Given the description of an element on the screen output the (x, y) to click on. 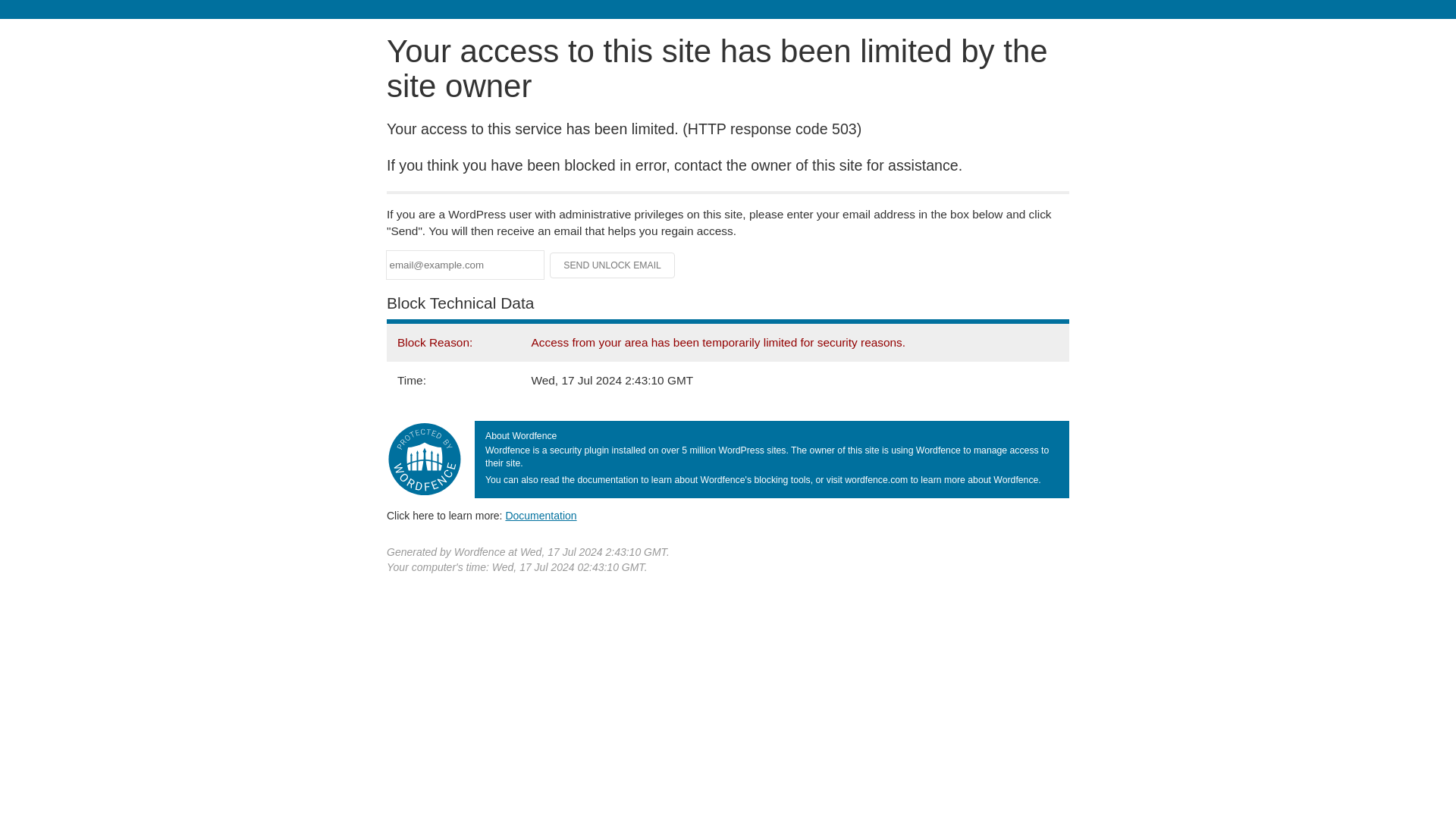
Send Unlock Email (612, 265)
Send Unlock Email (612, 265)
Documentation (540, 515)
